Given the description of an element on the screen output the (x, y) to click on. 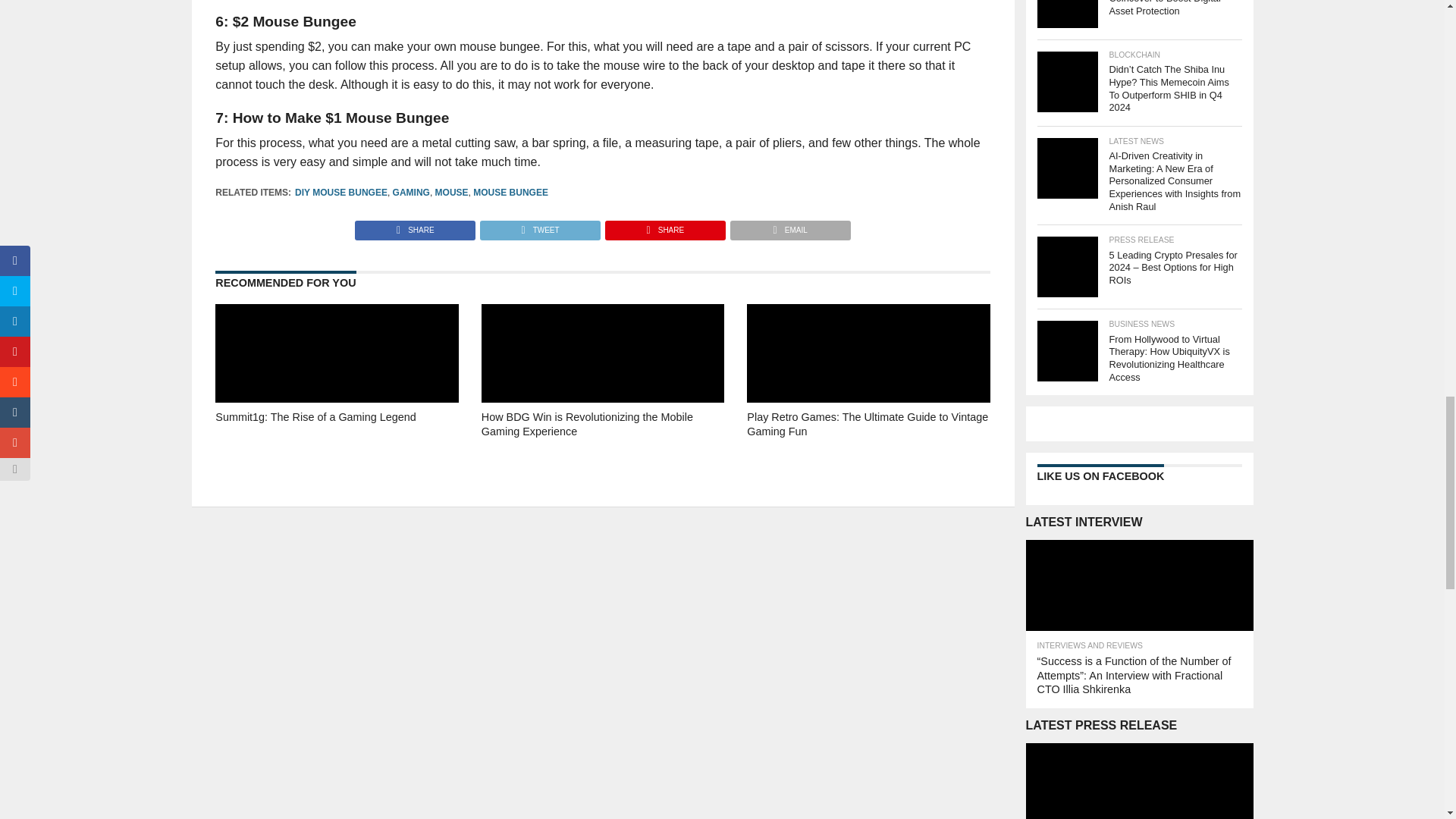
Tweet This Post (539, 226)
Pin This Post (664, 226)
How BDG Win is Revolutionizing the Mobile Gaming Experience (602, 445)
Summit1g: The Rise of a Gaming Legend (336, 445)
Play Retro Games: The Ultimate Guide to Vintage Gaming Fun (868, 445)
Share on Facebook (415, 226)
